Given the description of an element on the screen output the (x, y) to click on. 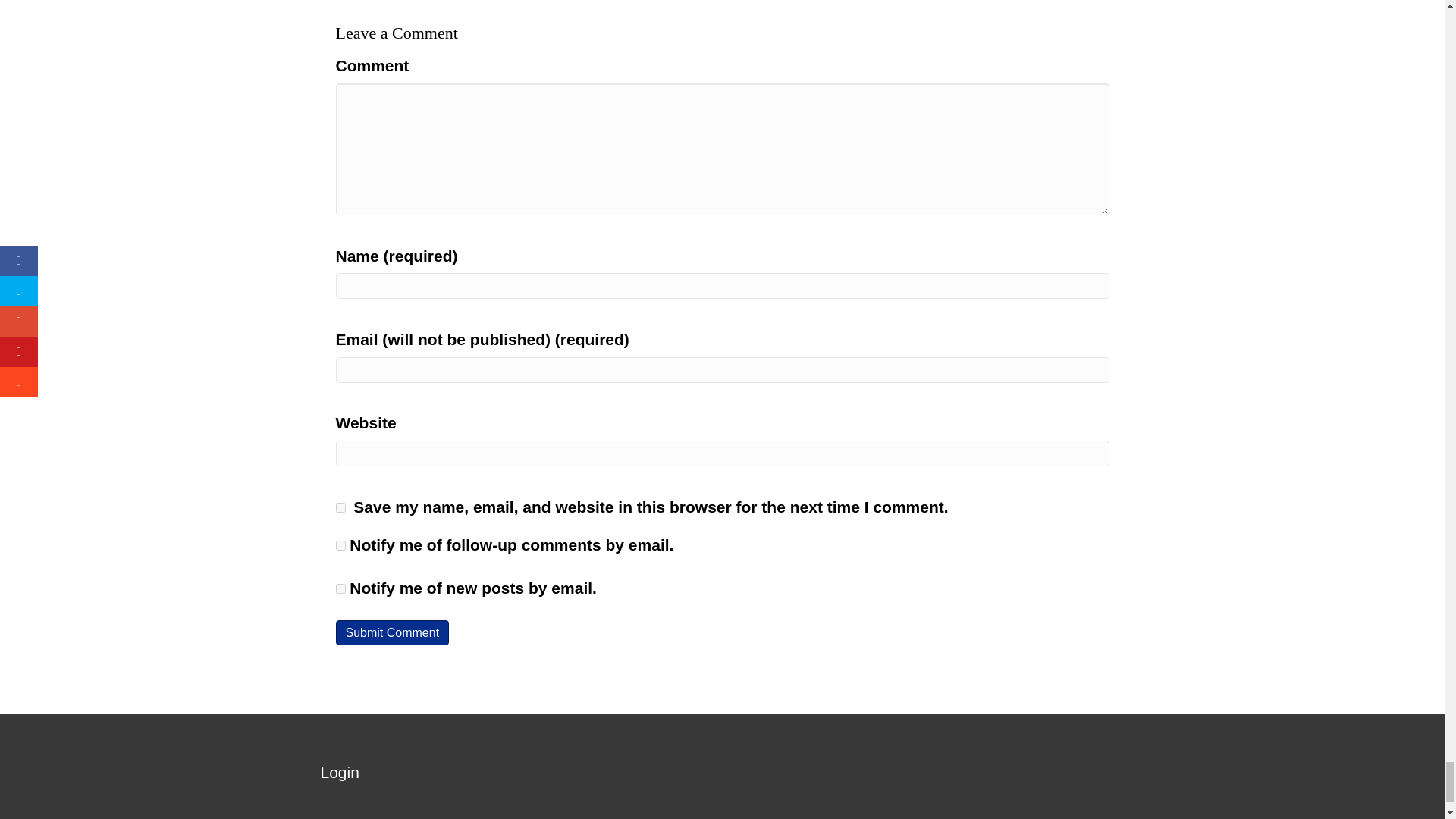
subscribe (339, 545)
subscribe (339, 588)
Submit Comment (391, 632)
yes (339, 507)
